Given the description of an element on the screen output the (x, y) to click on. 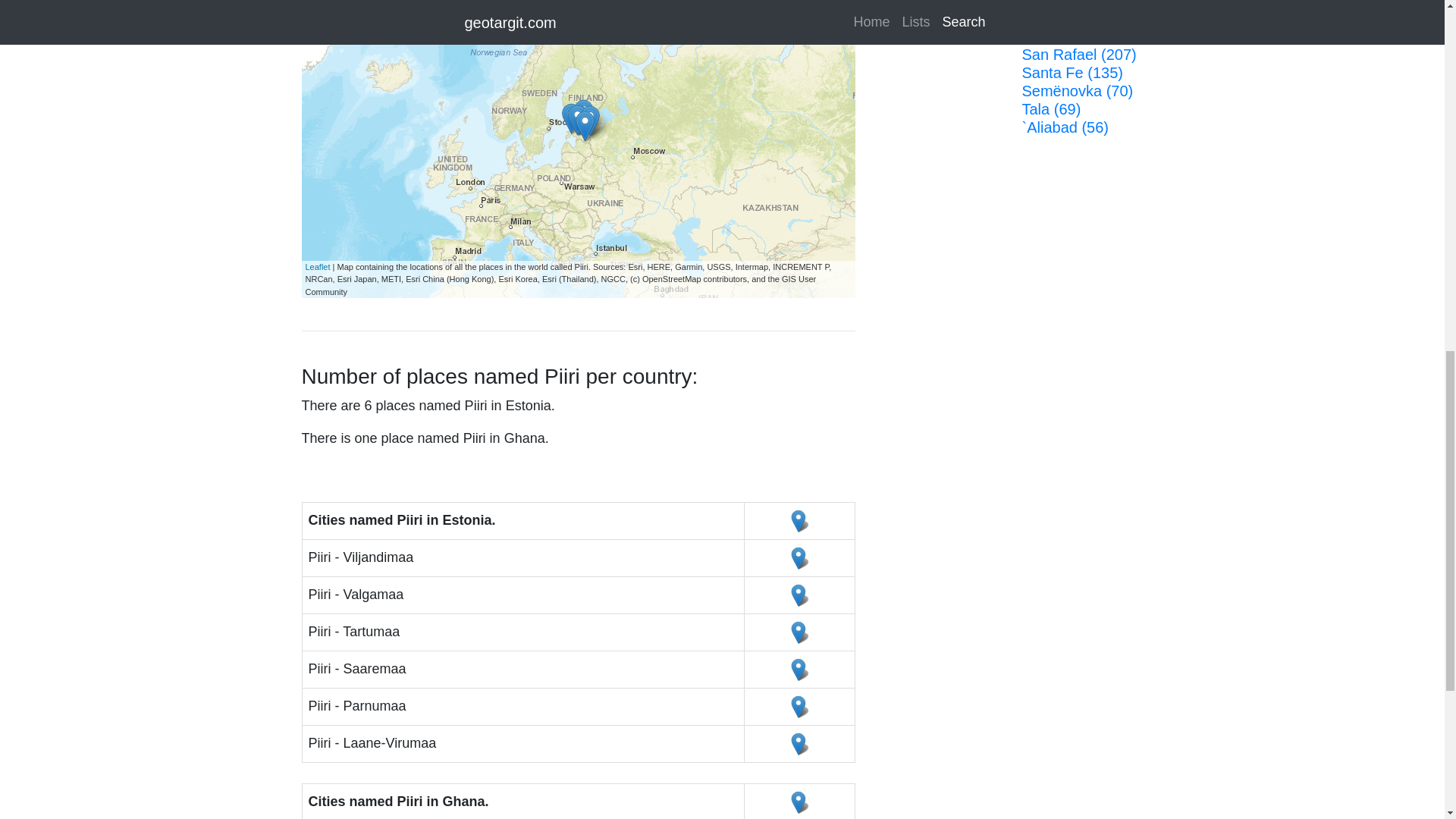
A JS library for interactive maps (317, 266)
Leaflet (317, 266)
Where is Piiri - Laane-Virumaa - Estonia? (798, 743)
Where is Piiri - Parnumaa - Estonia? (798, 706)
Where is Piiri - Viljandimaa - Estonia? (798, 558)
Where is Piiri - Tartumaa - Estonia? (798, 631)
Where is Piiri - Saaremaa - Estonia? (798, 669)
Where is Piiri - Valgamaa - Estonia? (798, 595)
Zoom in (322, 2)
Zoom out (322, 15)
